Given the description of an element on the screen output the (x, y) to click on. 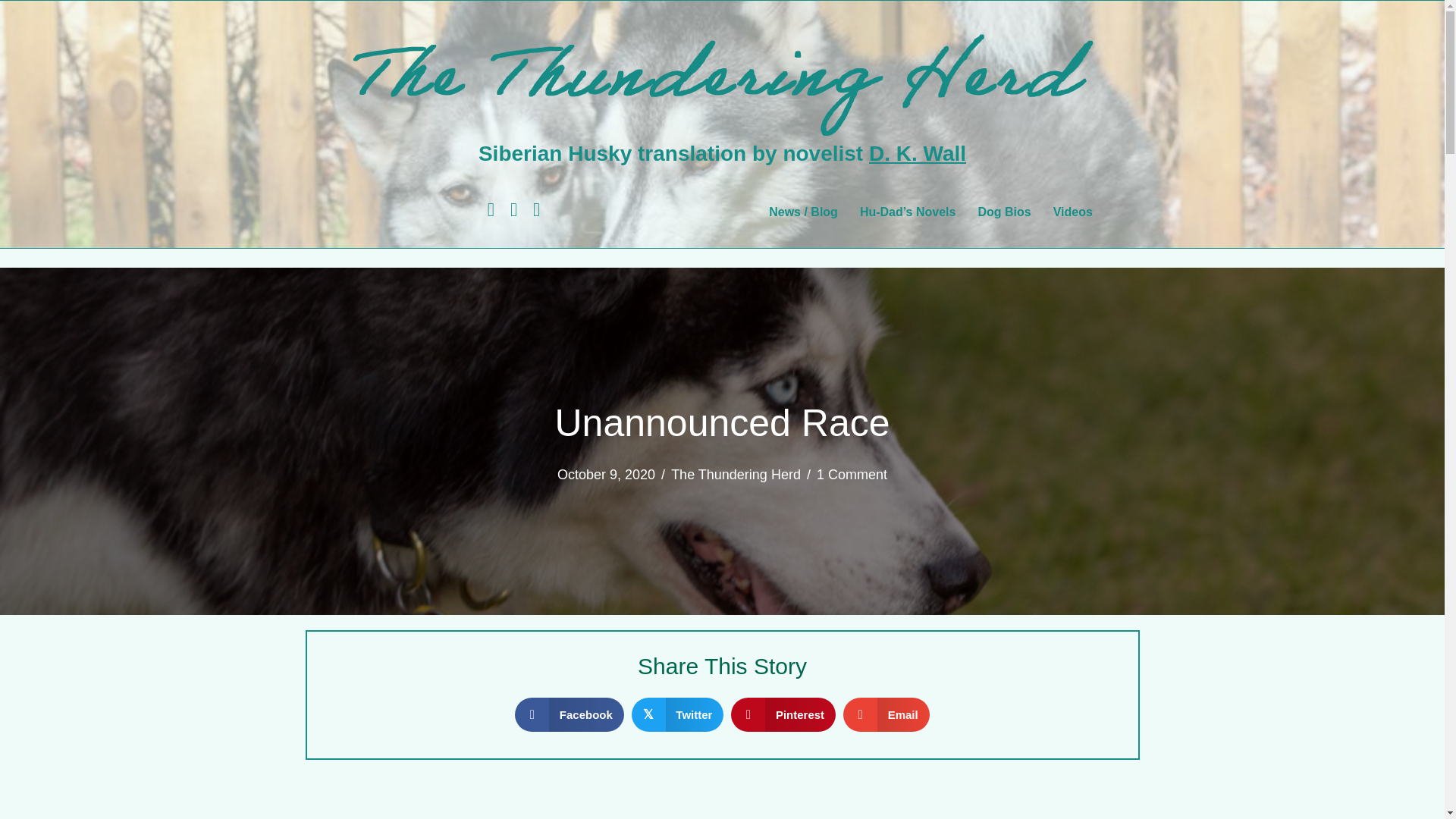
The Thundering Herd (735, 474)
Dog Bios (1003, 212)
Facebook (569, 714)
Videos (1072, 212)
TTH Header 2021-07-13 (721, 76)
1 Comment (851, 474)
Pinterest (782, 714)
D. K. Wall (917, 153)
Email (886, 714)
